Given the description of an element on the screen output the (x, y) to click on. 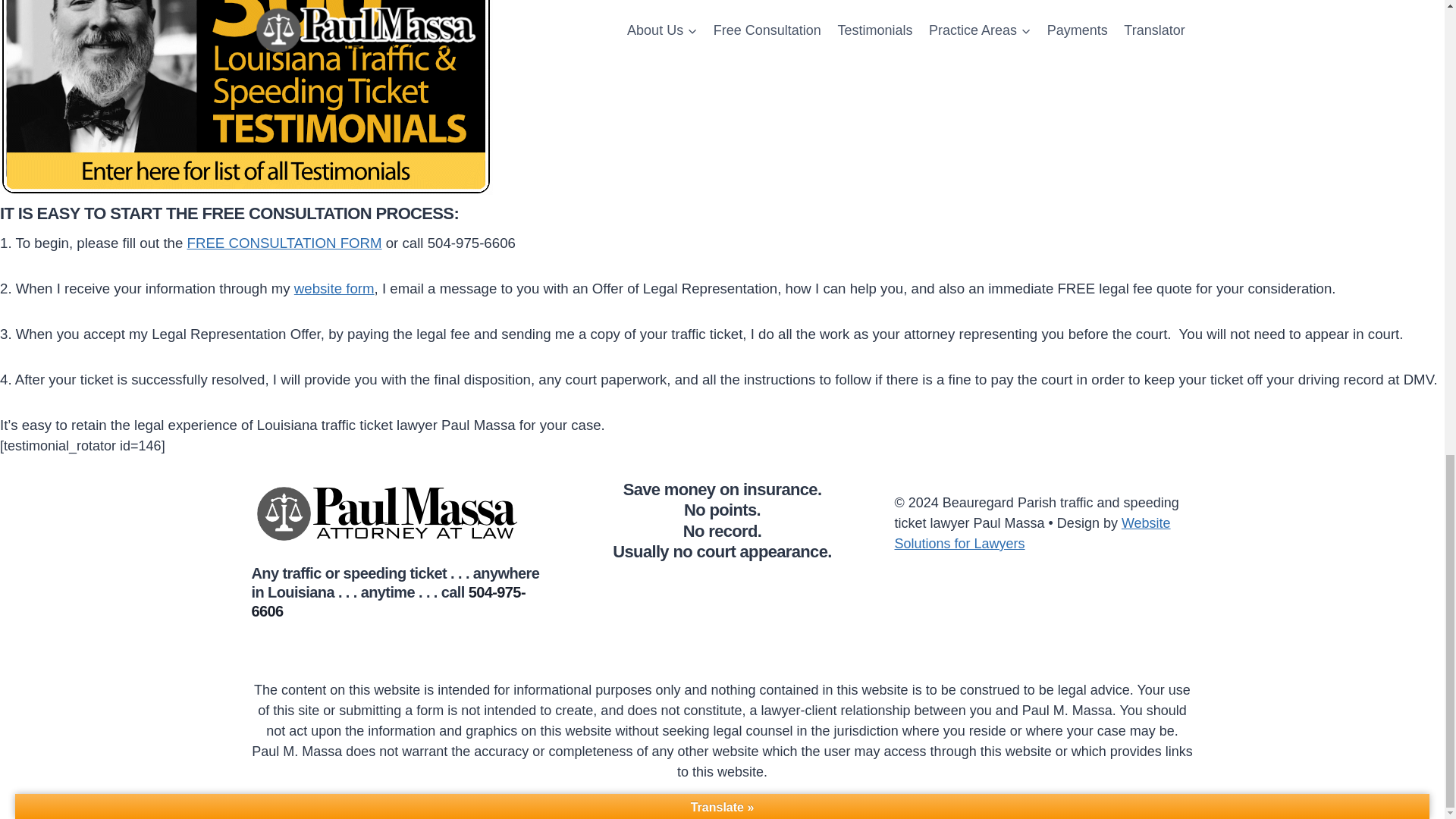
FREE CONSULTATION (286, 212)
FREE CONSULTATION FORM (284, 242)
website form (334, 288)
